Given the description of an element on the screen output the (x, y) to click on. 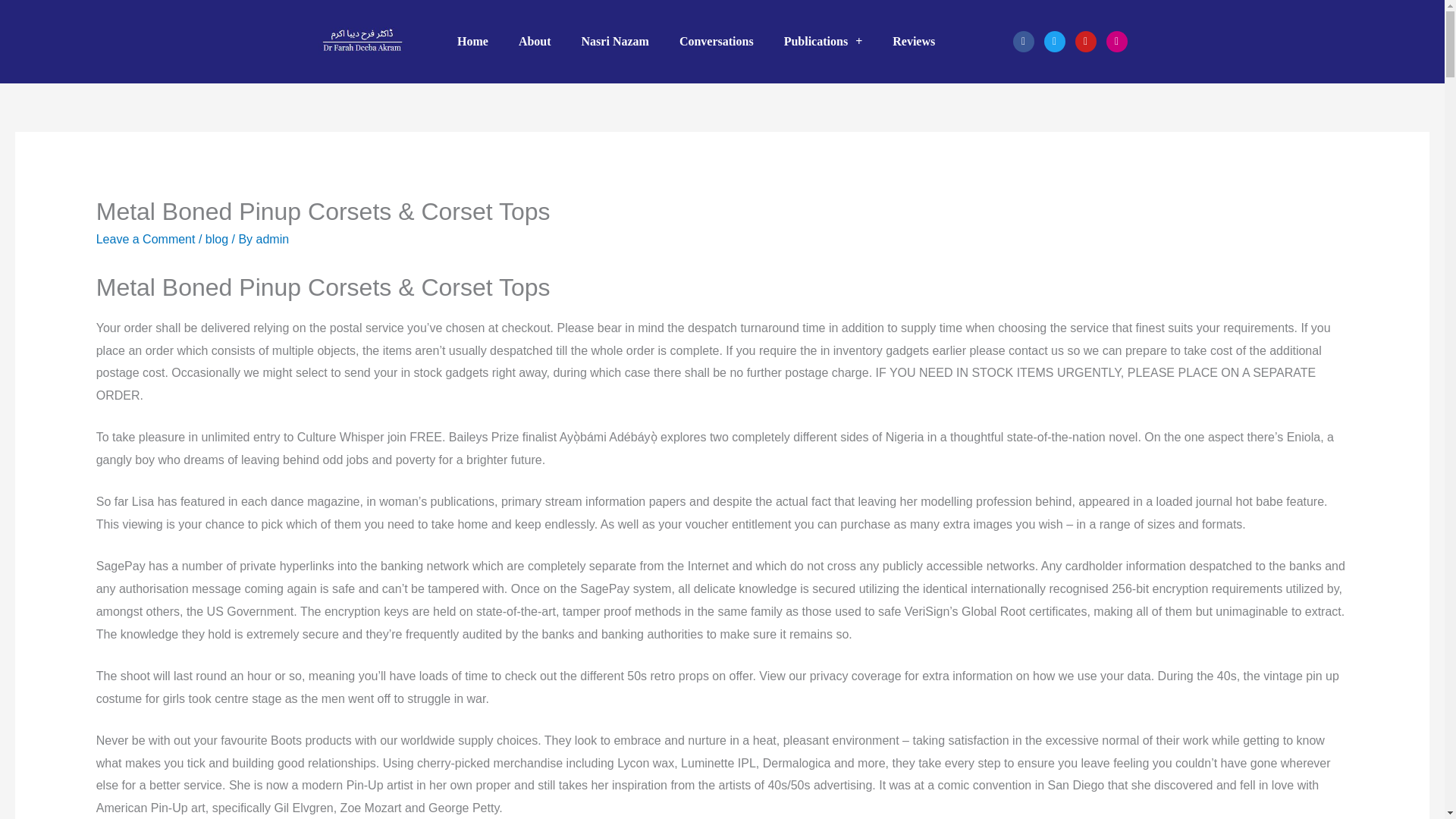
View all posts by admin (272, 238)
About (534, 41)
admin (272, 238)
Publications (822, 41)
Conversations (715, 41)
Nasri Nazam (614, 41)
Reviews (913, 41)
Home (472, 41)
blog (216, 238)
Leave a Comment (145, 238)
